Given the description of an element on the screen output the (x, y) to click on. 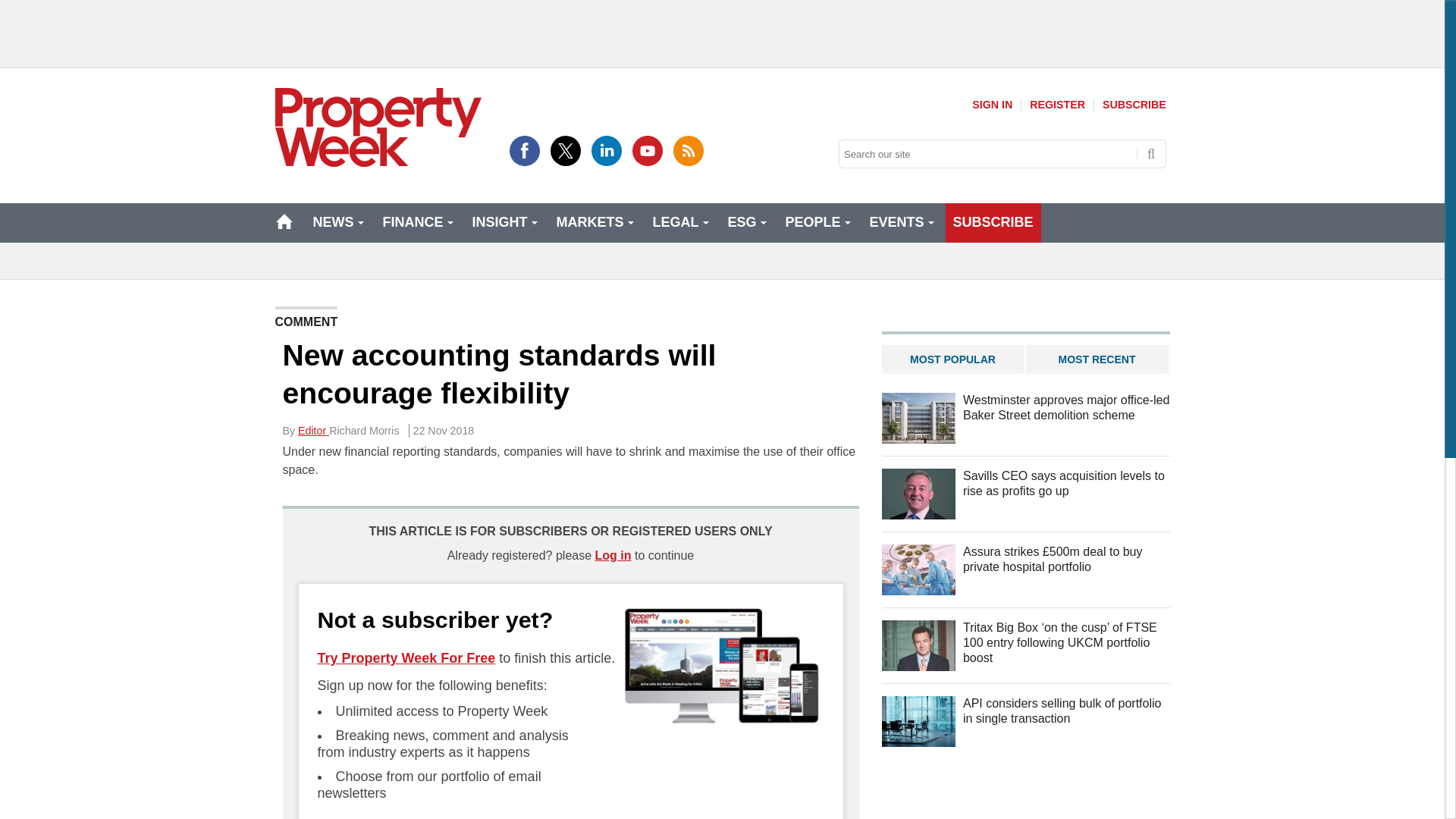
Savills CEO says acquisition levels to rise as profits go up (917, 493)
Property Week (377, 127)
FINANCE (416, 222)
Posts by Editor (313, 430)
SUBSCRIBE (1134, 105)
NEWS (336, 222)
HOME (283, 221)
Search (1151, 153)
REGISTER (1056, 105)
